Given the description of an element on the screen output the (x, y) to click on. 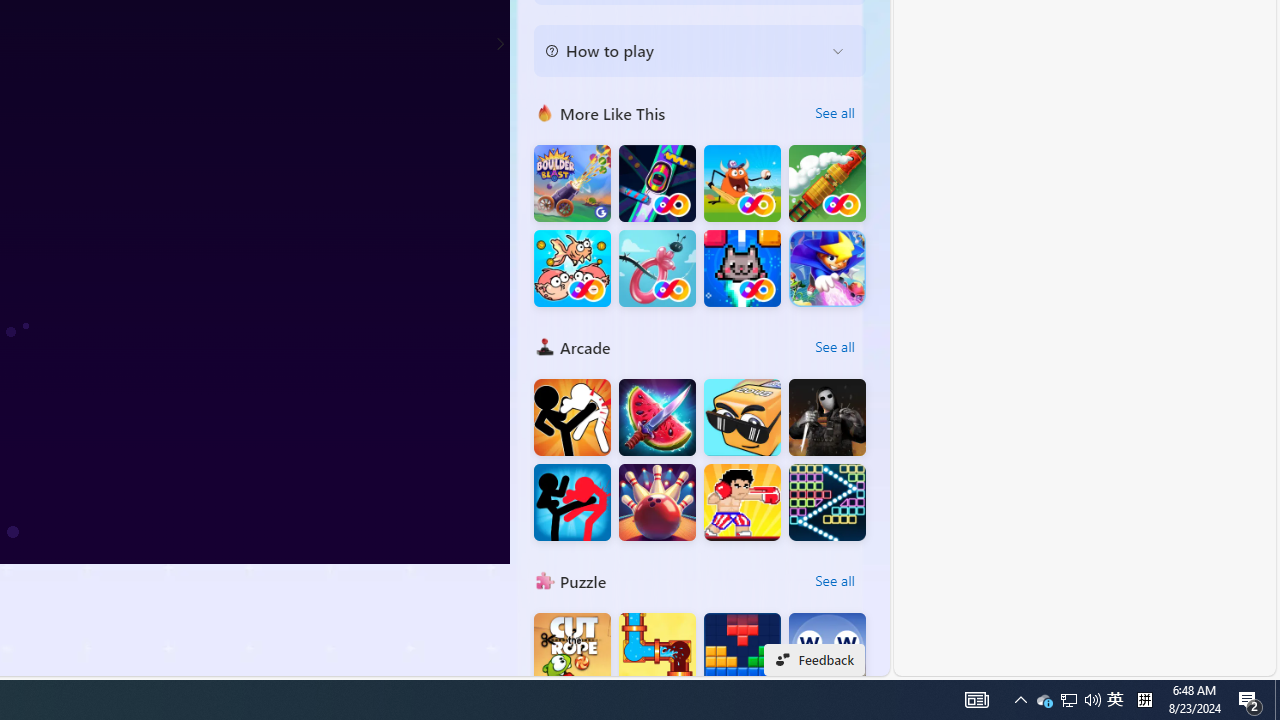
Fish Merge FRVR (571, 268)
See all (834, 580)
More Like This (544, 112)
Words of Wonders (827, 651)
Balloon FRVR (657, 268)
Boxing fighter : Super punch (742, 502)
Monster Bash FRVR (742, 183)
How to play (683, 50)
Puzzle (544, 580)
See all (834, 580)
Boulder Blast (571, 183)
Castle Of Magic (827, 268)
Cut the Rope (571, 651)
Fruit Chopper (657, 417)
